Given the description of an element on the screen output the (x, y) to click on. 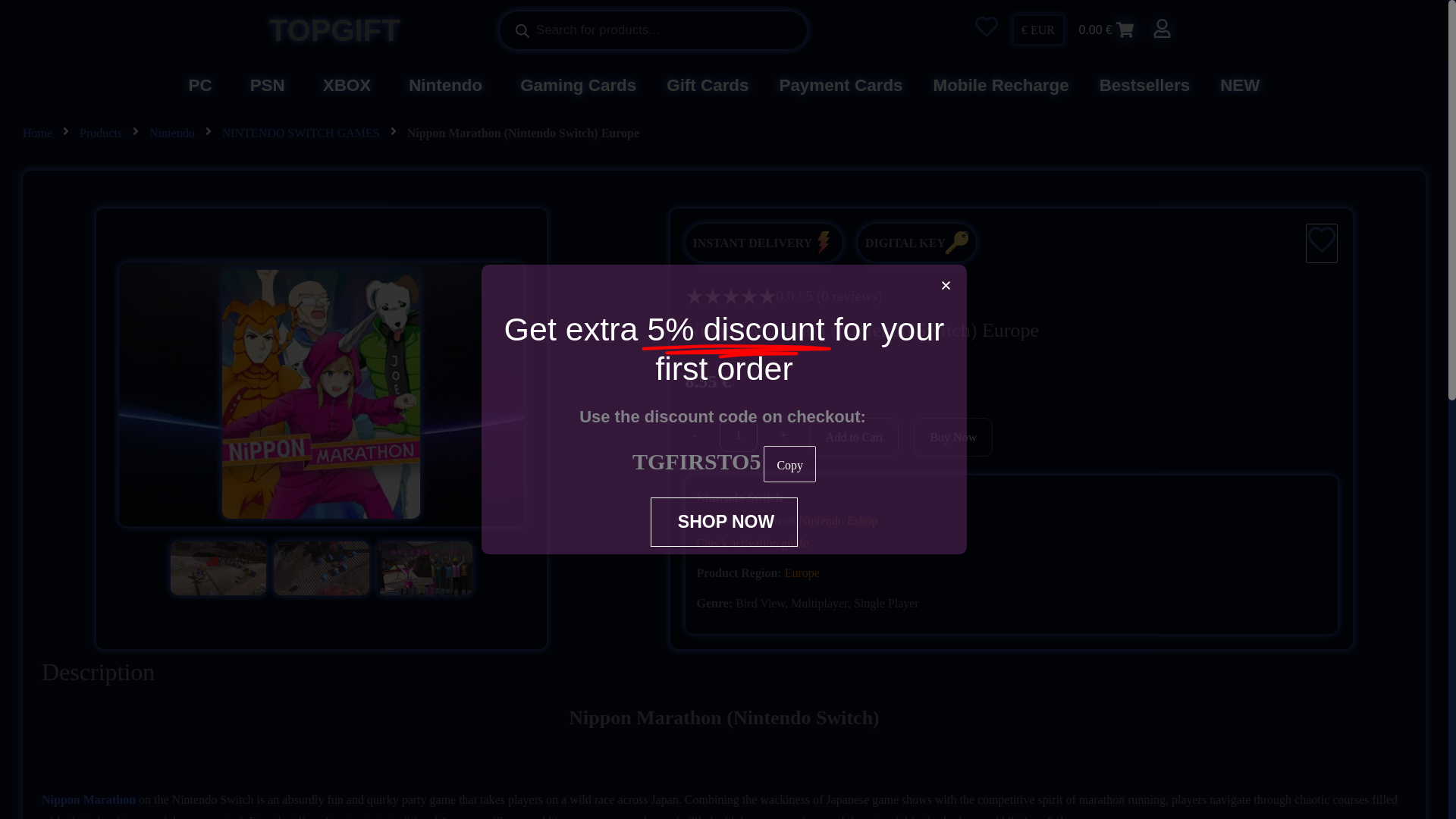
NINTENDO SWITCH GAMES (301, 133)
Products (101, 133)
Nintendo (172, 133)
View your shopping cart (1106, 29)
1 (738, 435)
Home (37, 133)
